Given the description of an element on the screen output the (x, y) to click on. 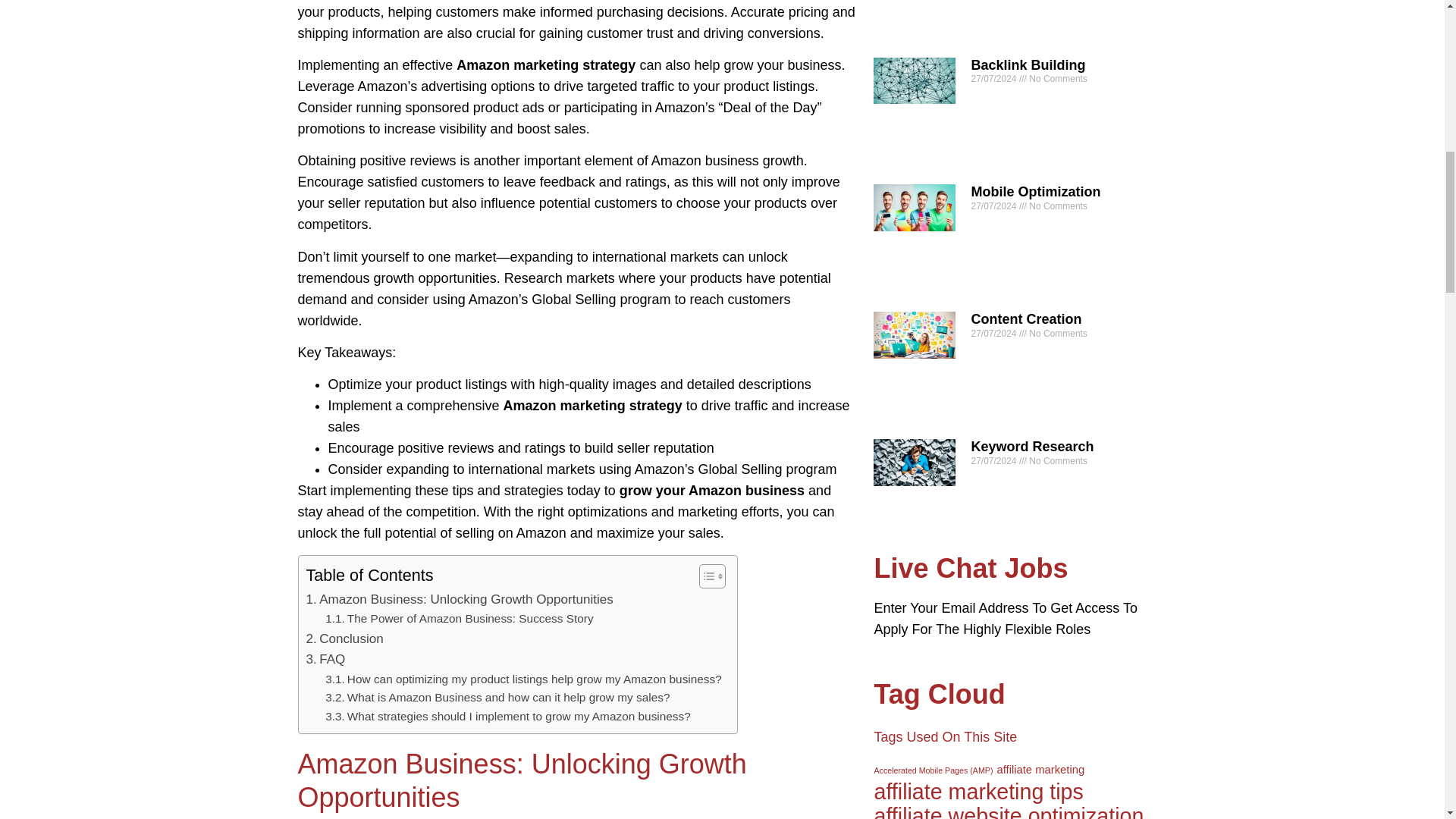
FAQ (325, 659)
The Power of Amazon Business: Success Story (458, 618)
Conclusion (344, 638)
What is Amazon Business and how can it help grow my sales? (496, 697)
Amazon Business: Unlocking Growth Opportunities (458, 598)
